Given the description of an element on the screen output the (x, y) to click on. 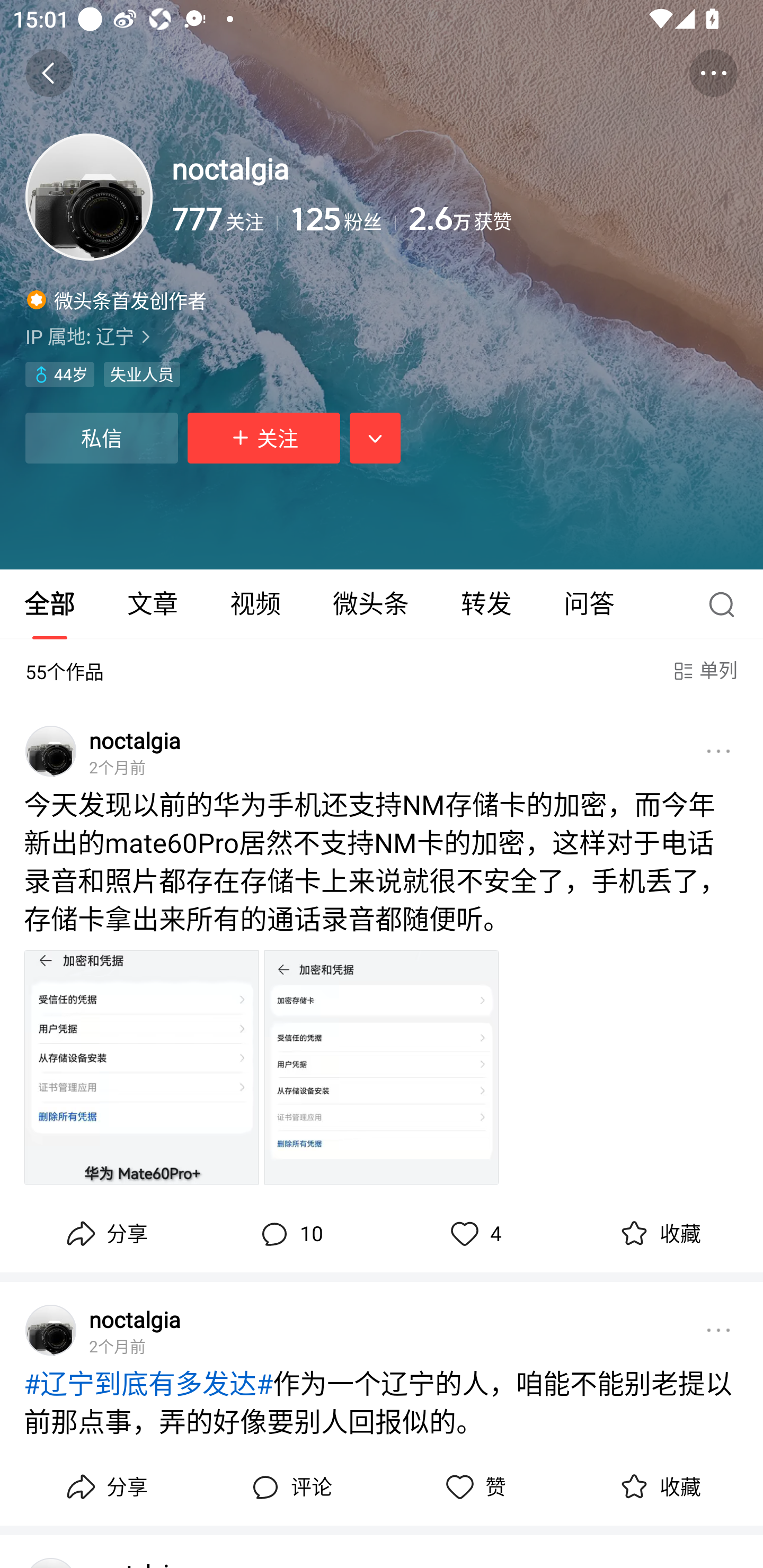
返回 (49, 72)
更多操作 (713, 72)
头像 (88, 196)
777 关注 (224, 219)
125 粉丝 (342, 219)
2.6万 获赞 (572, 219)
微头条首发创作者 (116, 299)
IP 属地: 辽宁 (381, 336)
性别男，年龄44岁 44岁 (59, 374)
失业人员 (141, 374)
私信 (101, 438)
     关注 (263, 438)
展开相关推荐，按钮 (374, 438)
全部 (50, 604)
文章 (152, 604)
视频 (254, 604)
微头条 (370, 604)
转发 (485, 604)
问答 (588, 604)
搜索 (726, 604)
单列 当前单列点按切换至双列 (703, 670)
noctalgia (134, 739)
noctalgia头像 (50, 750)
更多 (718, 750)
内容图片1，点击识别 (141, 1067)
内容图片2，点击识别 (381, 1067)
分享 (104, 1233)
评论,10 10 (288, 1233)
,收藏 收藏 (658, 1233)
noctalgia (134, 1319)
noctalgia头像 (50, 1330)
更多 (718, 1329)
分享 (104, 1486)
评论, 评论 (288, 1486)
,收藏 收藏 (658, 1486)
